Given the description of an element on the screen output the (x, y) to click on. 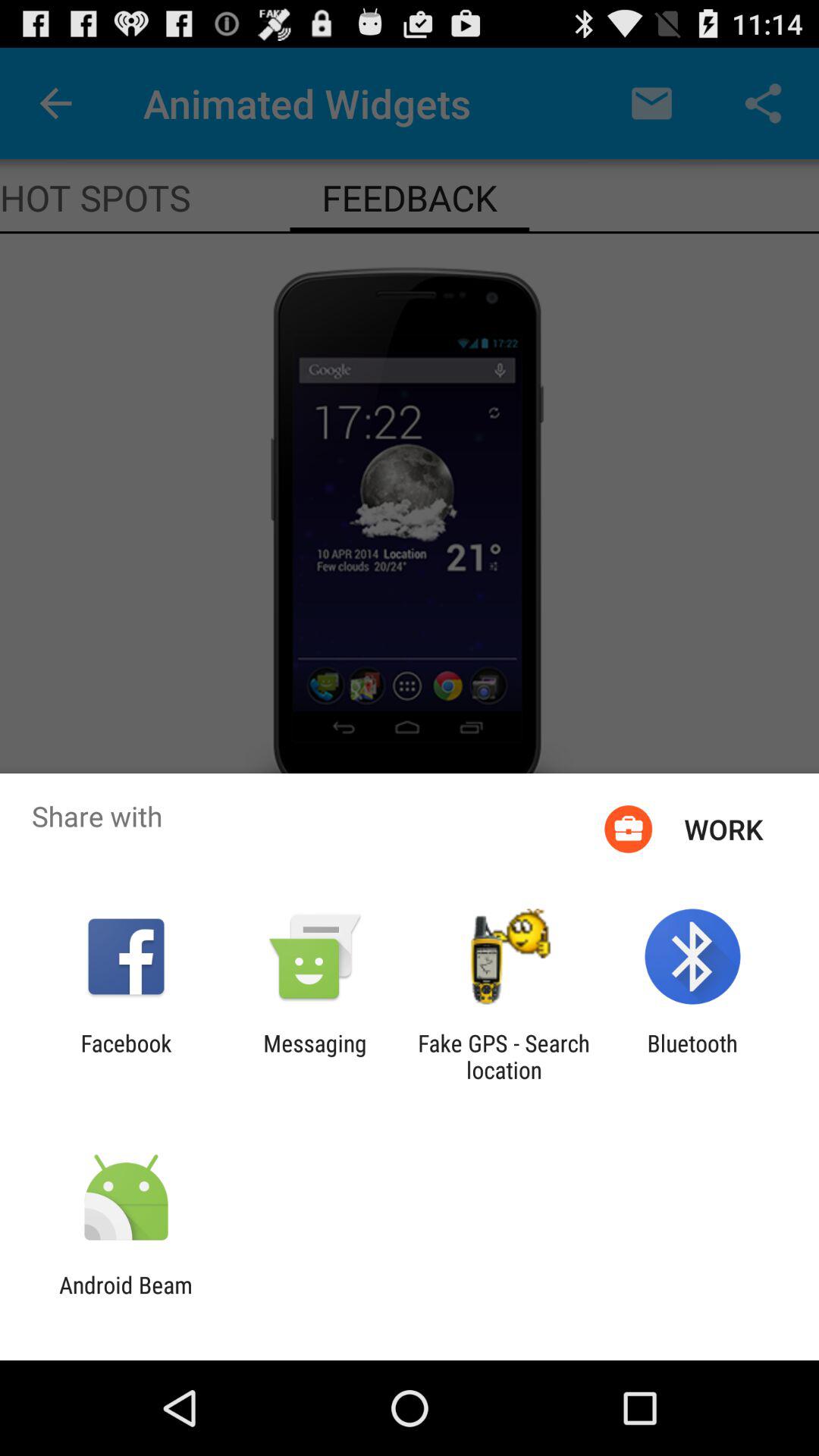
turn off the item to the left of messaging icon (125, 1056)
